Given the description of an element on the screen output the (x, y) to click on. 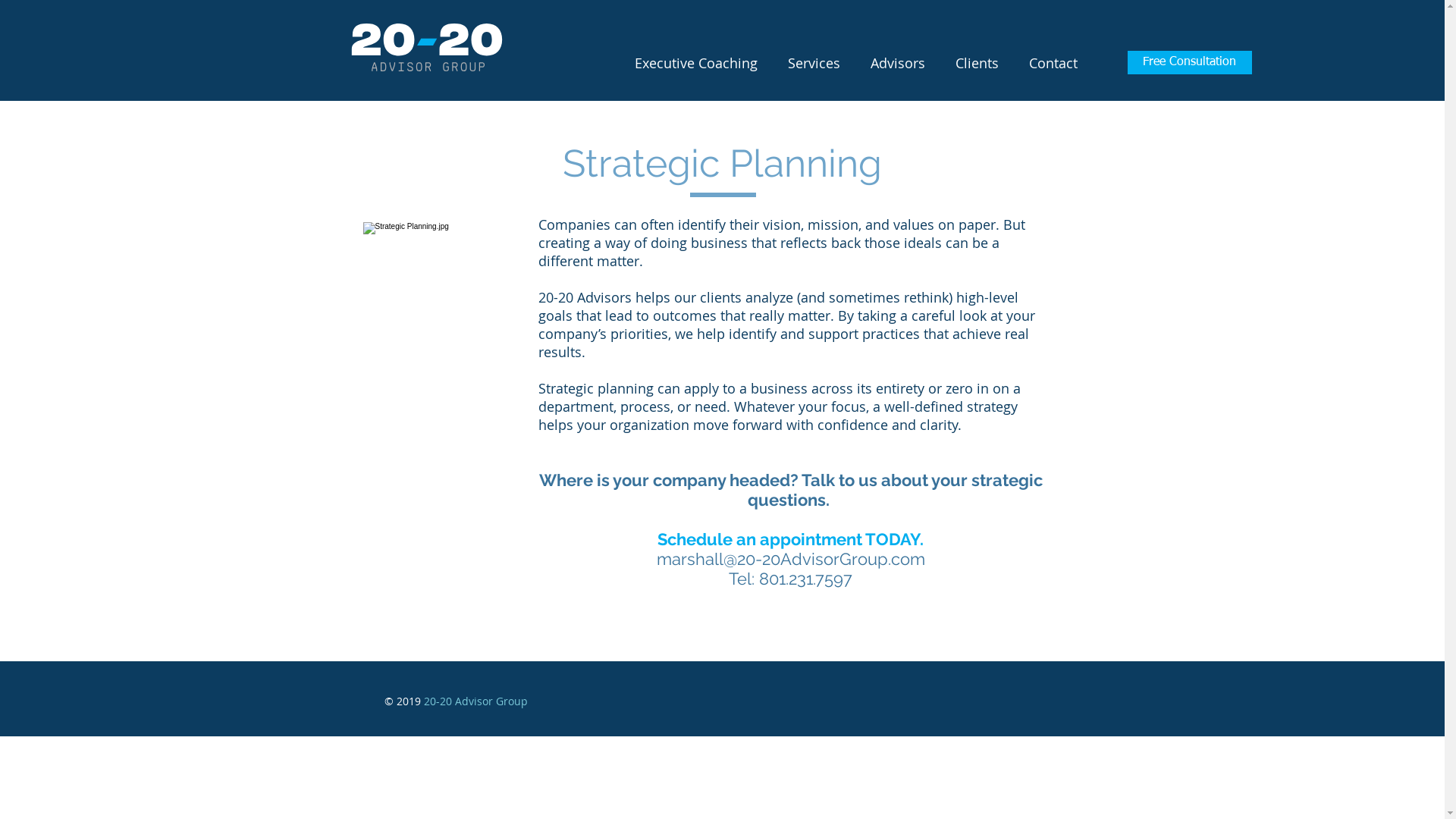
Executive Coaching Element type: text (694, 62)
Contact Element type: text (1052, 62)
marshall@20-20AdvisorGroup.com Element type: text (790, 558)
Advisors Element type: text (897, 62)
Clients Element type: text (976, 62)
Free Consultation Element type: text (1188, 62)
